Given the description of an element on the screen output the (x, y) to click on. 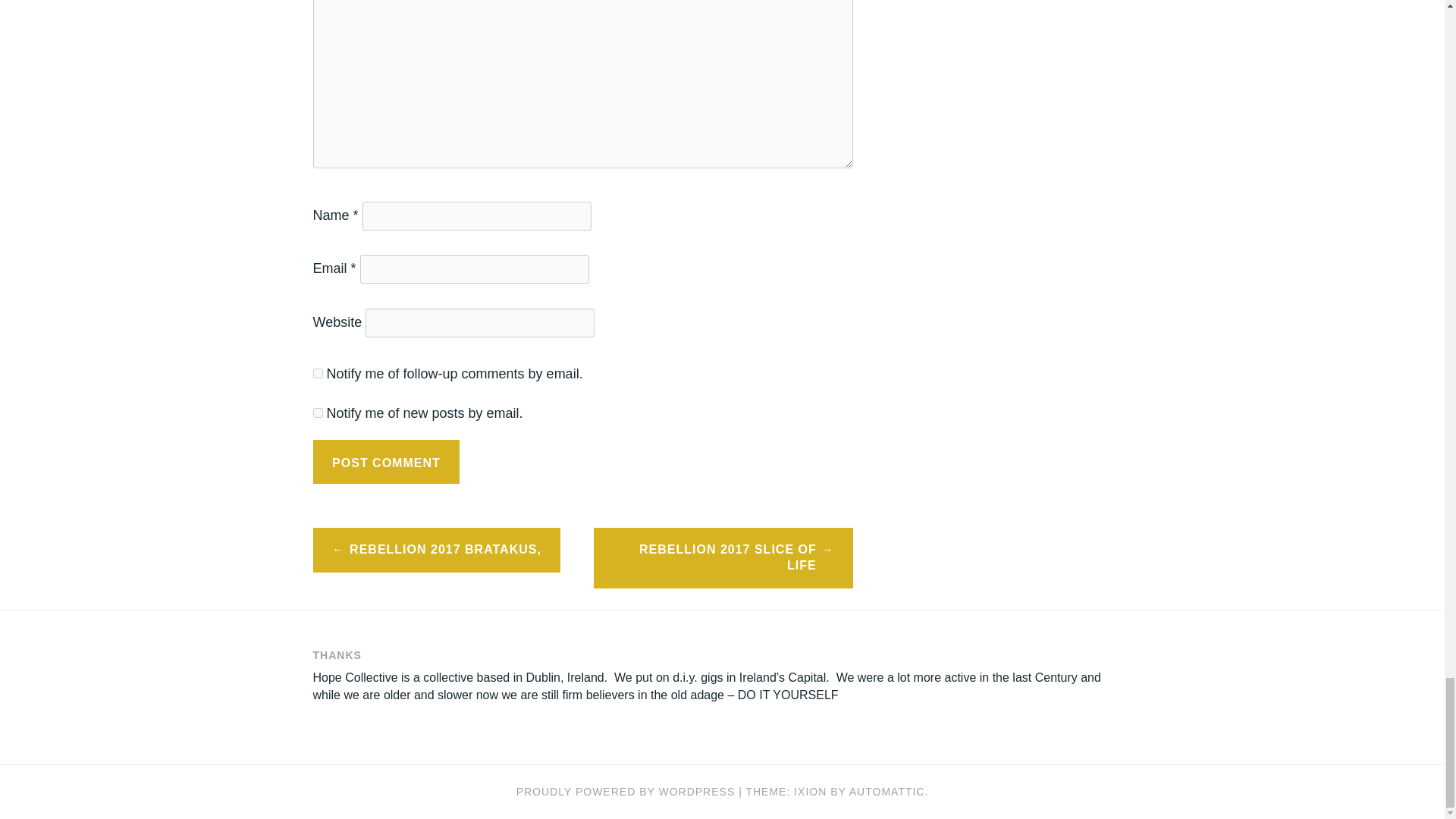
Post Comment (386, 461)
subscribe (317, 412)
subscribe (317, 373)
